Given the description of an element on the screen output the (x, y) to click on. 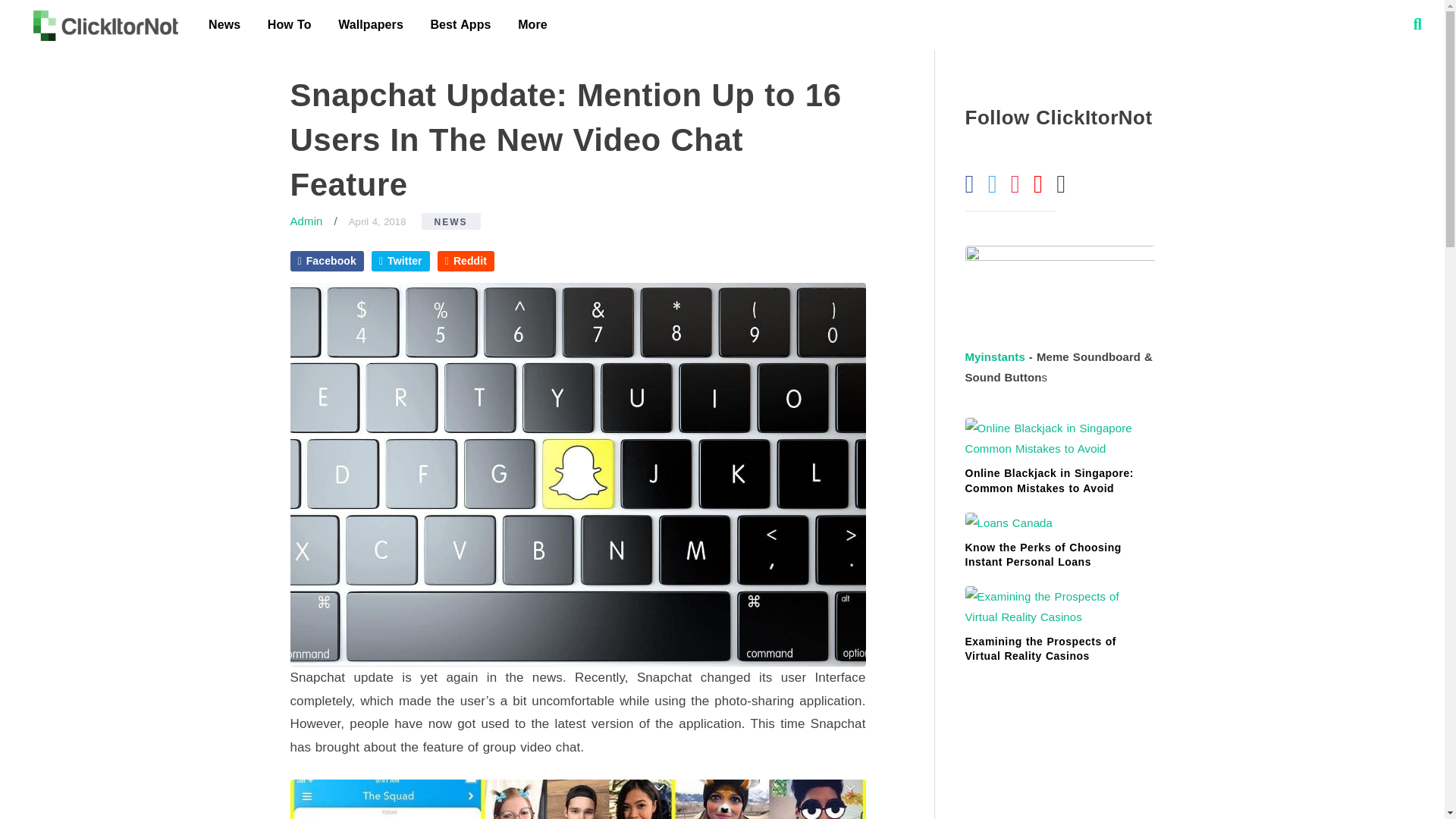
News (223, 24)
Best Apps (460, 24)
CLICKITORNOT (105, 24)
How To (289, 24)
Twitter (400, 260)
More (532, 24)
Admin (305, 220)
Wallpapers (370, 24)
NEWS (451, 221)
Facebook (325, 260)
Reddit (466, 260)
